Given the description of an element on the screen output the (x, y) to click on. 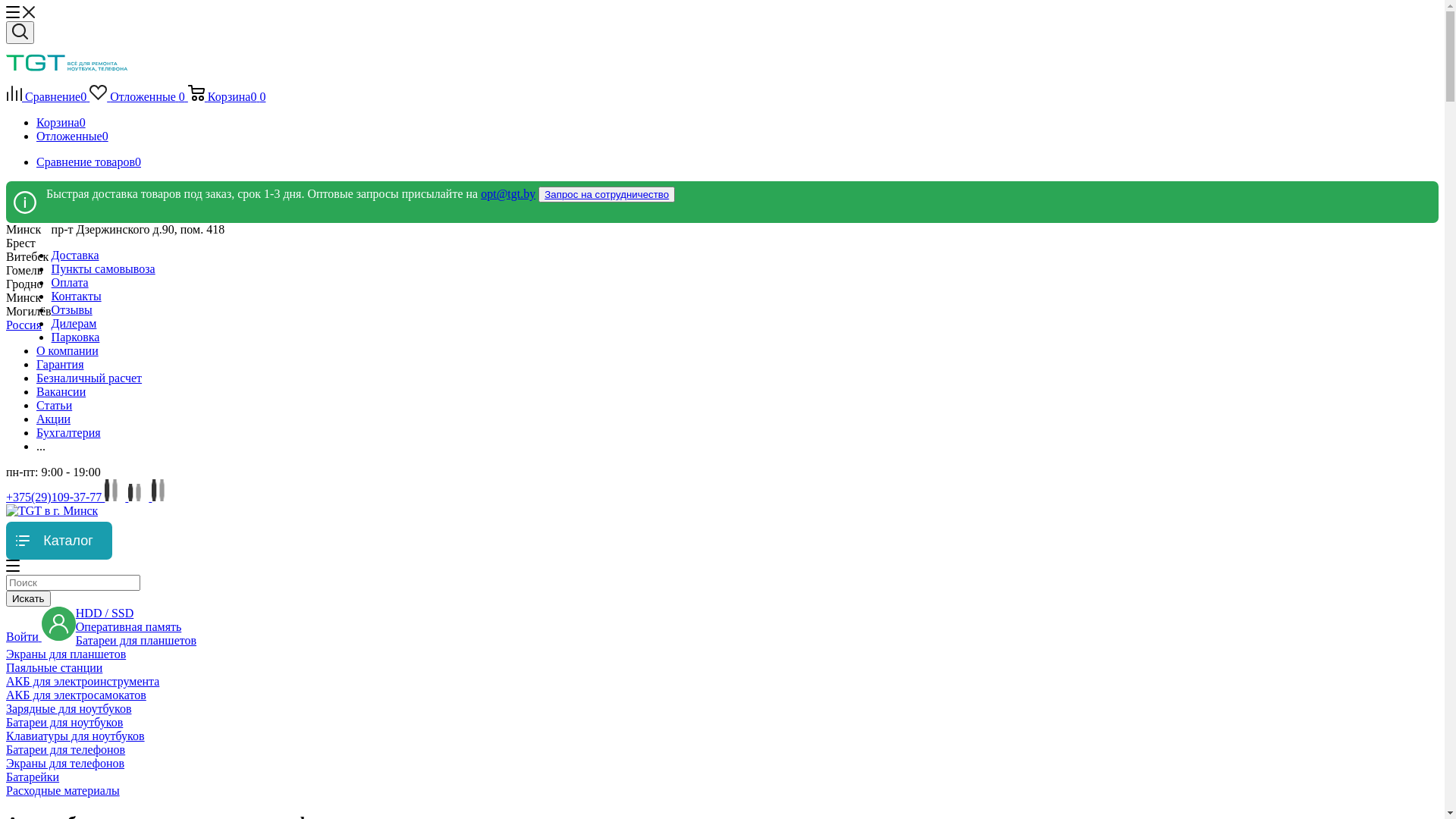
whatsapp Element type: hover (161, 496)
telegram Element type: hover (139, 496)
viber Element type: hover (116, 496)
+375(29)109-37-77 Element type: text (55, 496)
opt@tgt.by Element type: text (507, 193)
HDD / SSD Element type: text (104, 612)
